Given the description of an element on the screen output the (x, y) to click on. 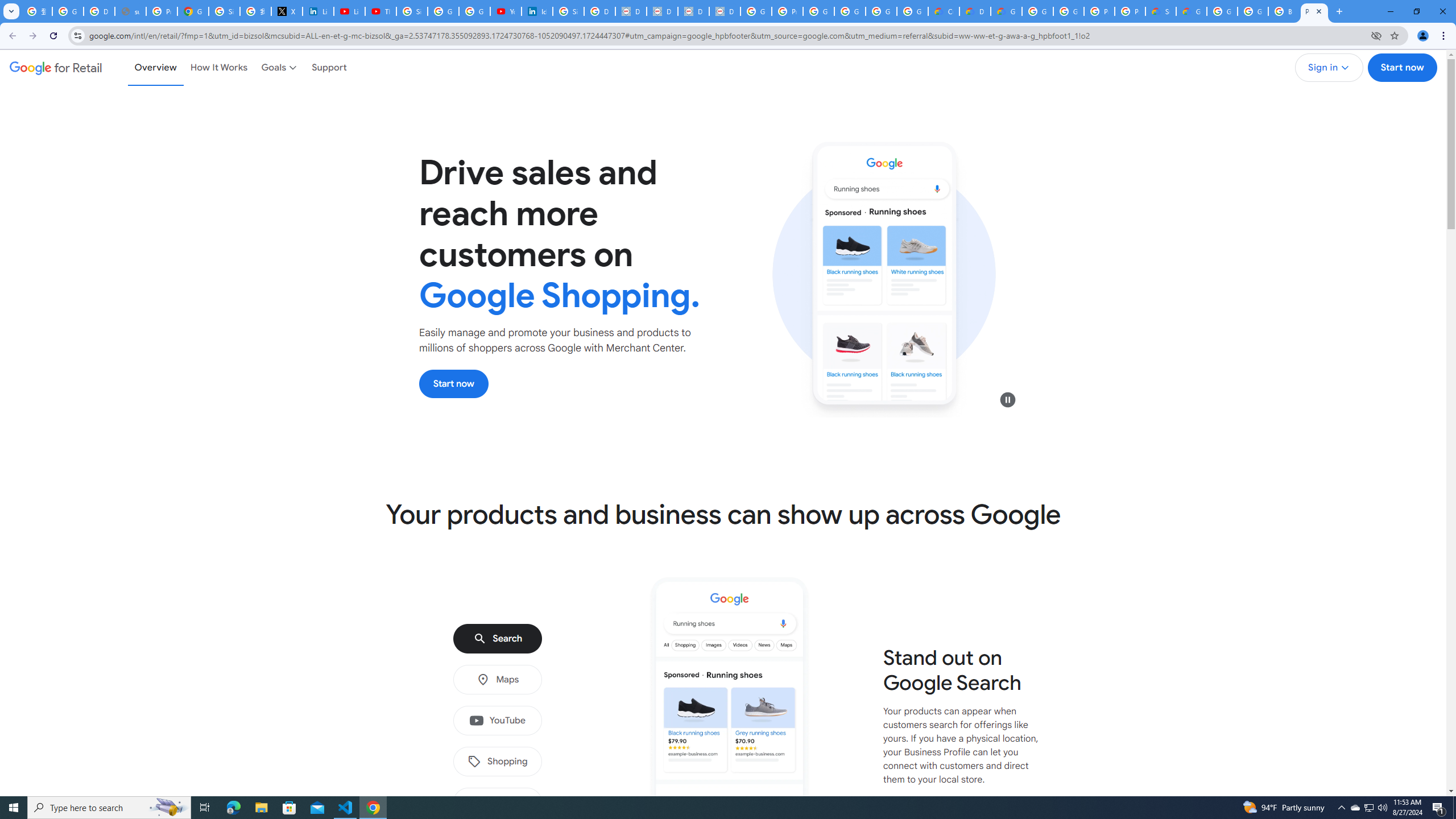
Google Cloud Service Health (1190, 11)
Google Cloud Platform (1252, 11)
Support (328, 67)
Google Workspace - Specific Terms (881, 11)
Data Privacy Framework (693, 11)
Sign in - Google Accounts (411, 11)
Sign in - Google Accounts (223, 11)
Support (328, 67)
